Given the description of an element on the screen output the (x, y) to click on. 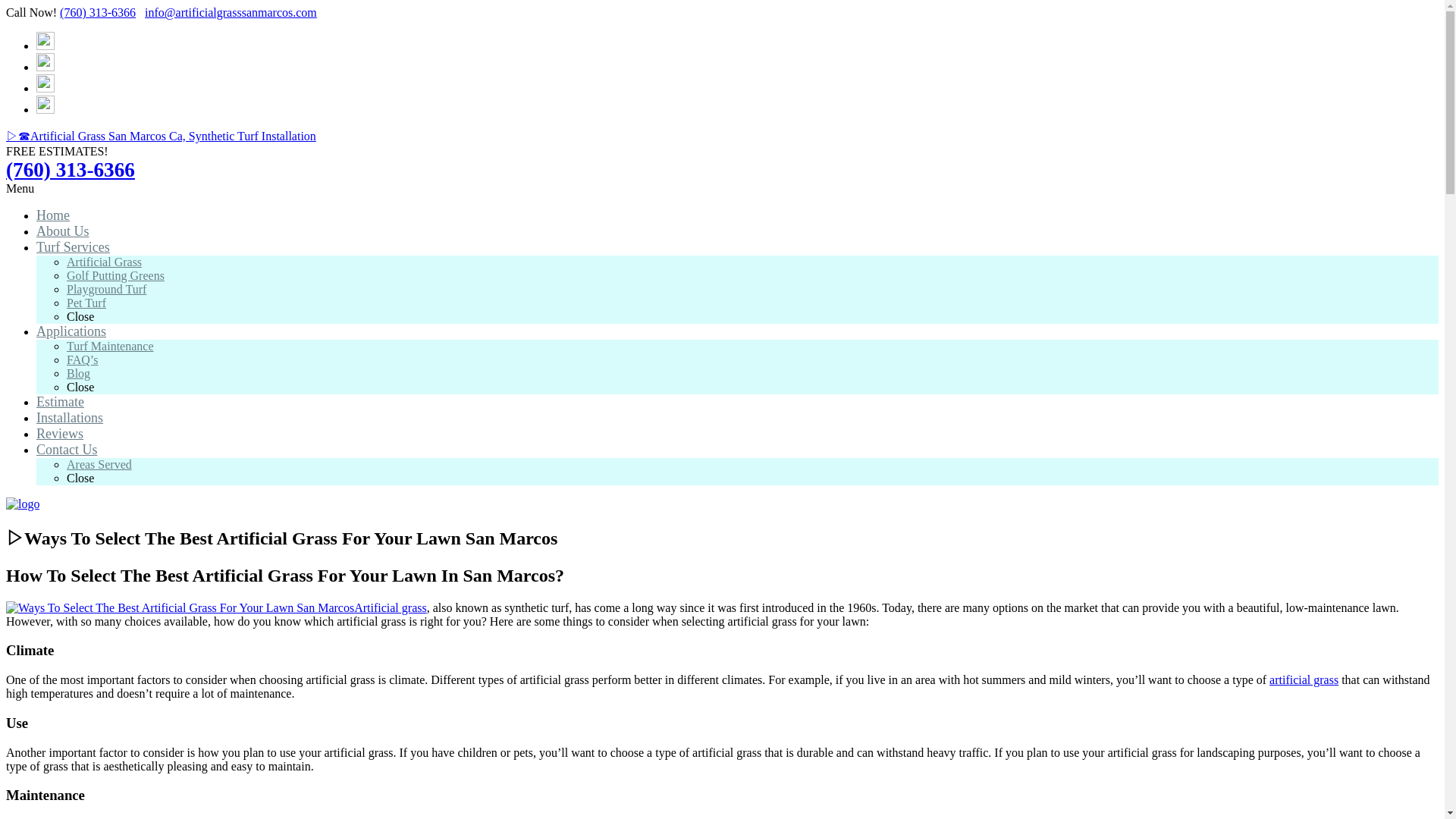
Installations (69, 417)
Blog (78, 373)
Yelp (45, 88)
Playground Turf (106, 288)
Applications (71, 331)
Facebook (45, 45)
Turf Services (73, 246)
Contact Us (66, 449)
artificial grass (1303, 679)
Menu (19, 187)
